Given the description of an element on the screen output the (x, y) to click on. 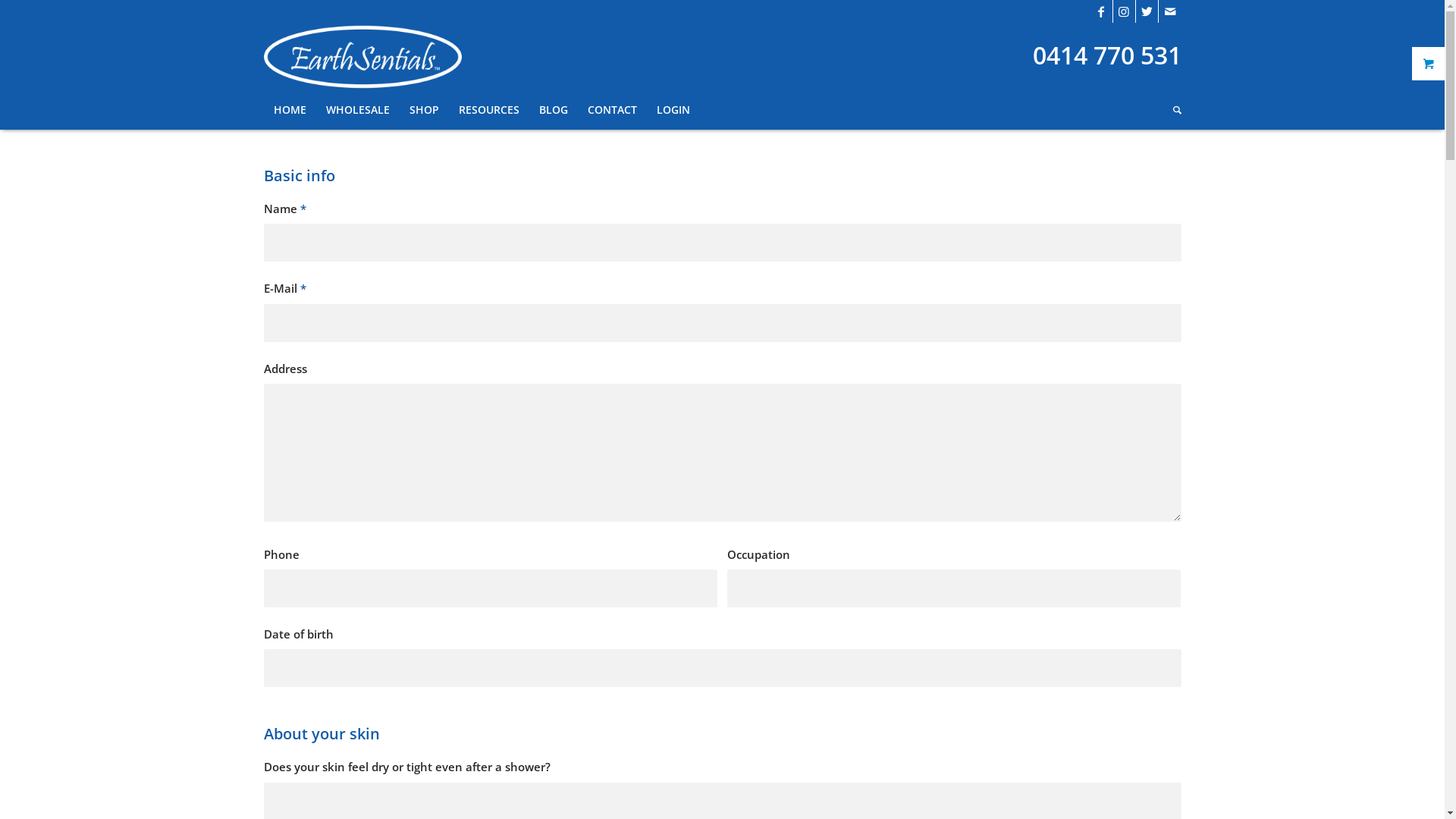
LOGIN Element type: text (672, 109)
Twitter Element type: hover (1146, 11)
SHOP Element type: text (423, 109)
CONTACT Element type: text (611, 109)
BLOG Element type: text (553, 109)
HOME Element type: text (289, 109)
Instagram Element type: hover (1124, 11)
Facebook Element type: hover (1101, 11)
RESOURCES Element type: text (488, 109)
Mail Element type: hover (1169, 11)
WHOLESALE Element type: text (356, 109)
